Given the description of an element on the screen output the (x, y) to click on. 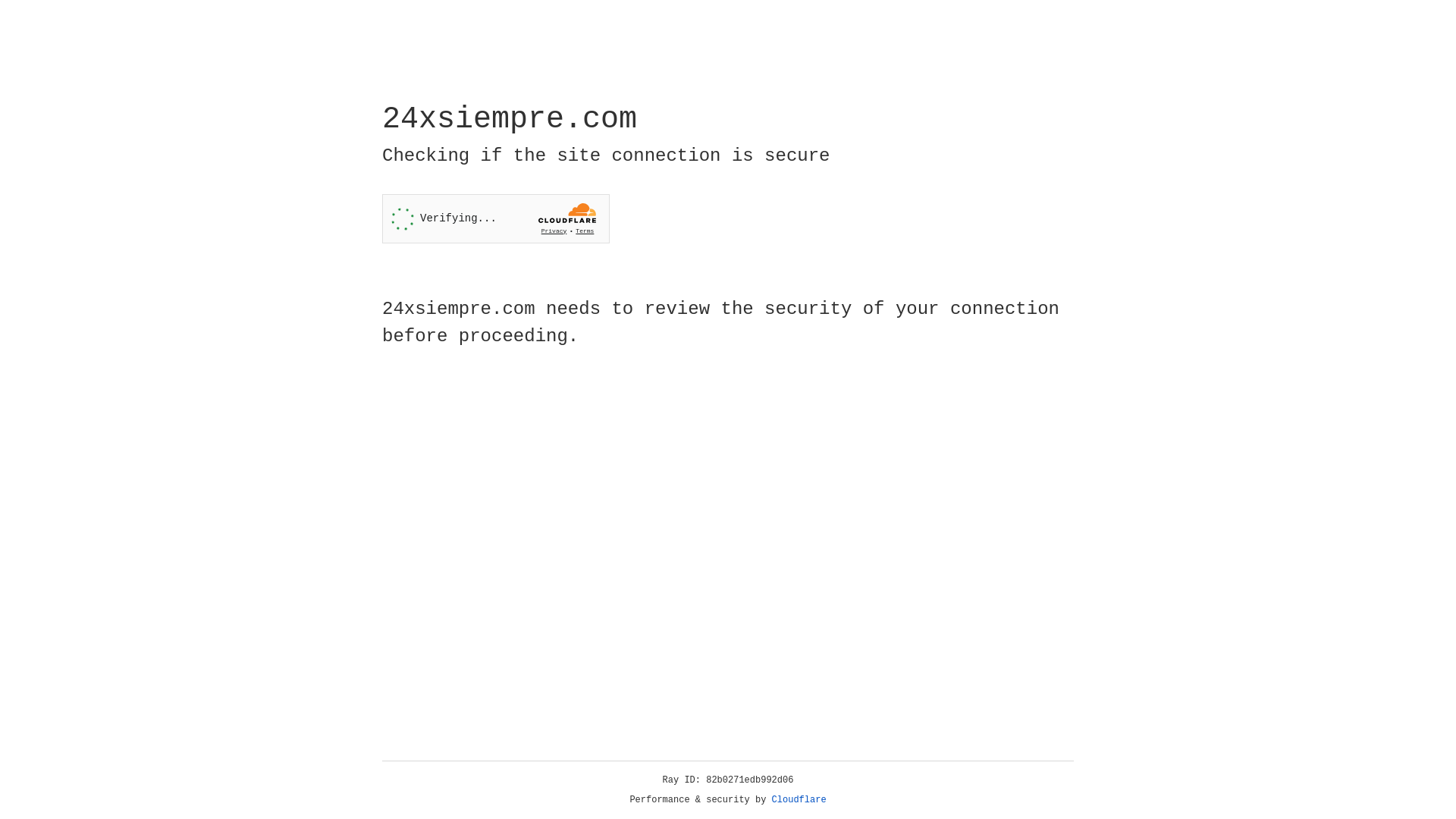
Cloudflare Element type: text (798, 799)
Widget containing a Cloudflare security challenge Element type: hover (495, 218)
